Given the description of an element on the screen output the (x, y) to click on. 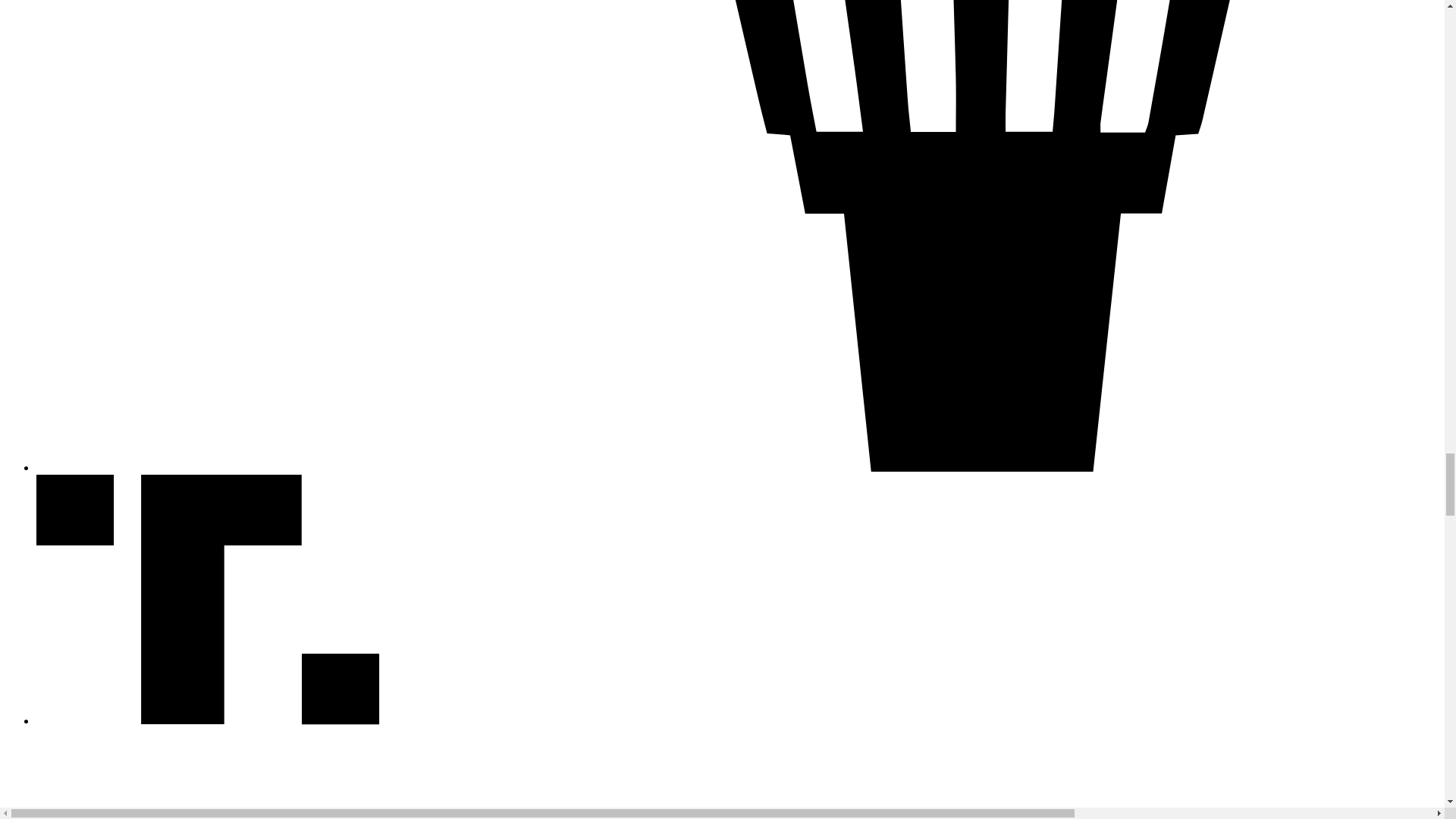
truth-social-seeklogo.com (208, 599)
truth-social-seeklogo.com (208, 720)
